Given the description of an element on the screen output the (x, y) to click on. 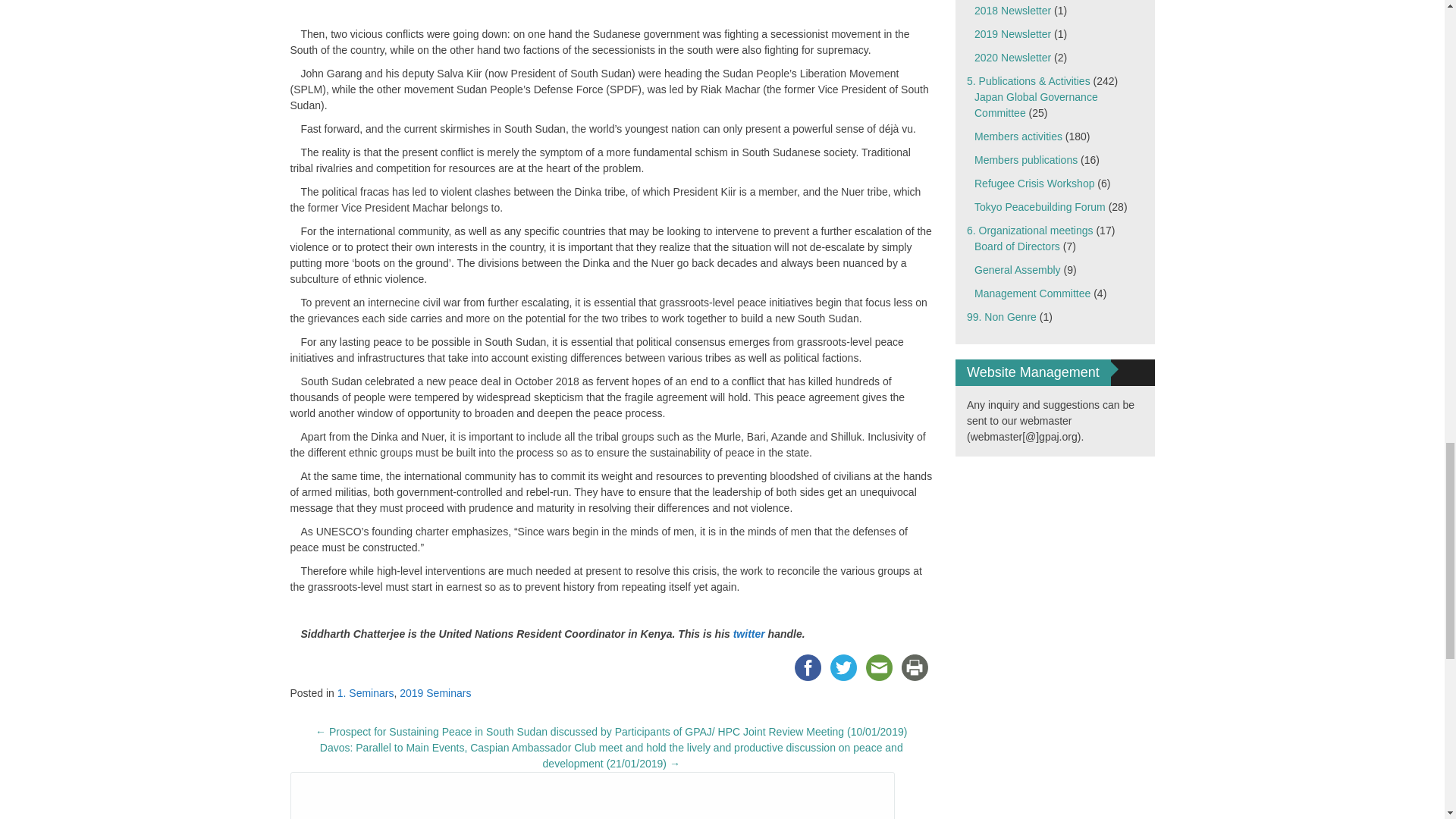
print (914, 667)
twitter (749, 633)
email (878, 667)
twitter (843, 667)
facebook (807, 667)
